Given the description of an element on the screen output the (x, y) to click on. 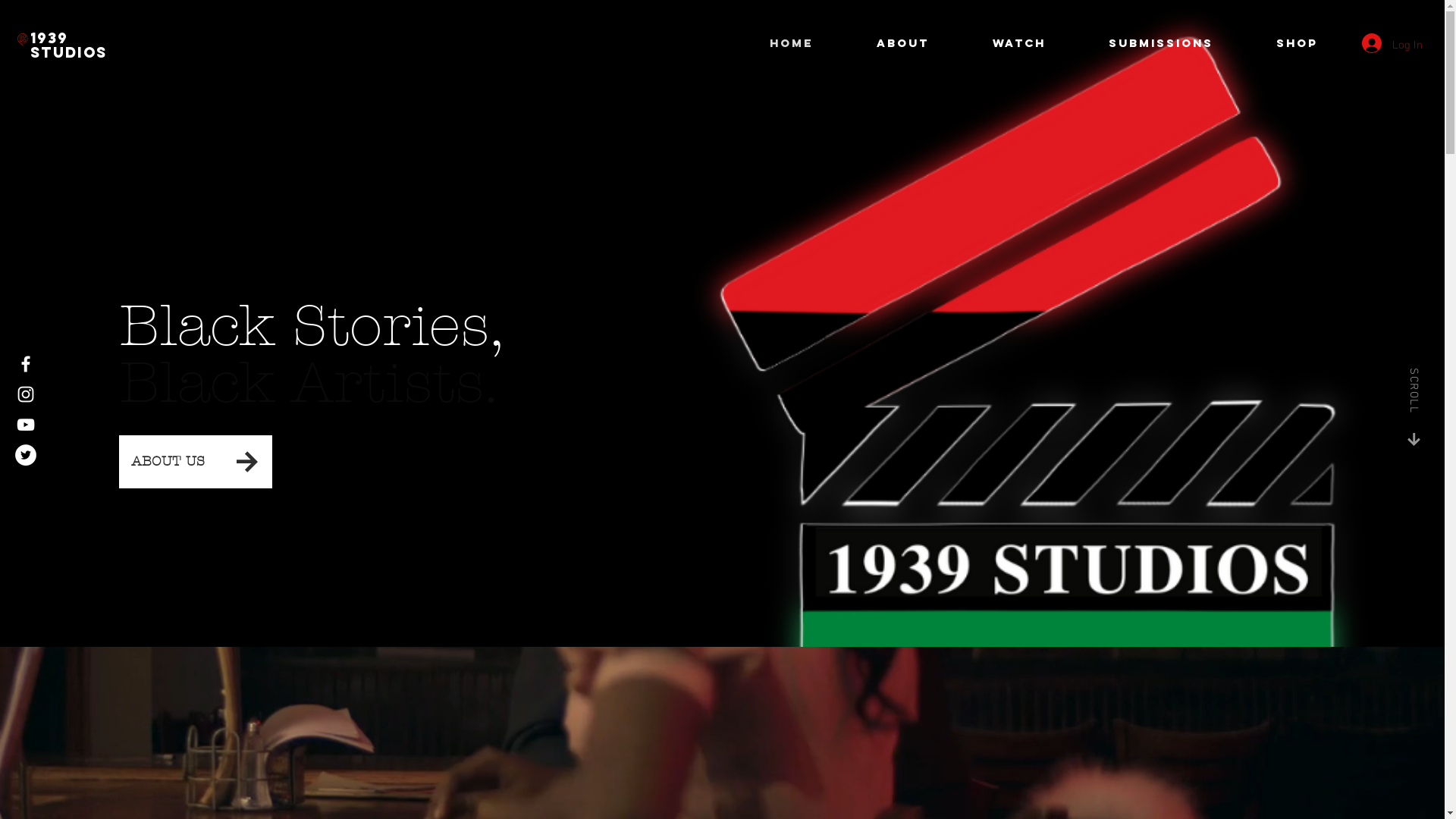
ABOUT US Element type: text (167, 461)
HOME Element type: text (813, 43)
Log In Element type: text (1382, 42)
SHOP Element type: text (1313, 43)
SUBMISSIONS Element type: text (1179, 43)
1939 Studios Element type: text (68, 44)
WATCH Element type: text (1039, 43)
ABOUT Element type: text (924, 43)
